Given the description of an element on the screen output the (x, y) to click on. 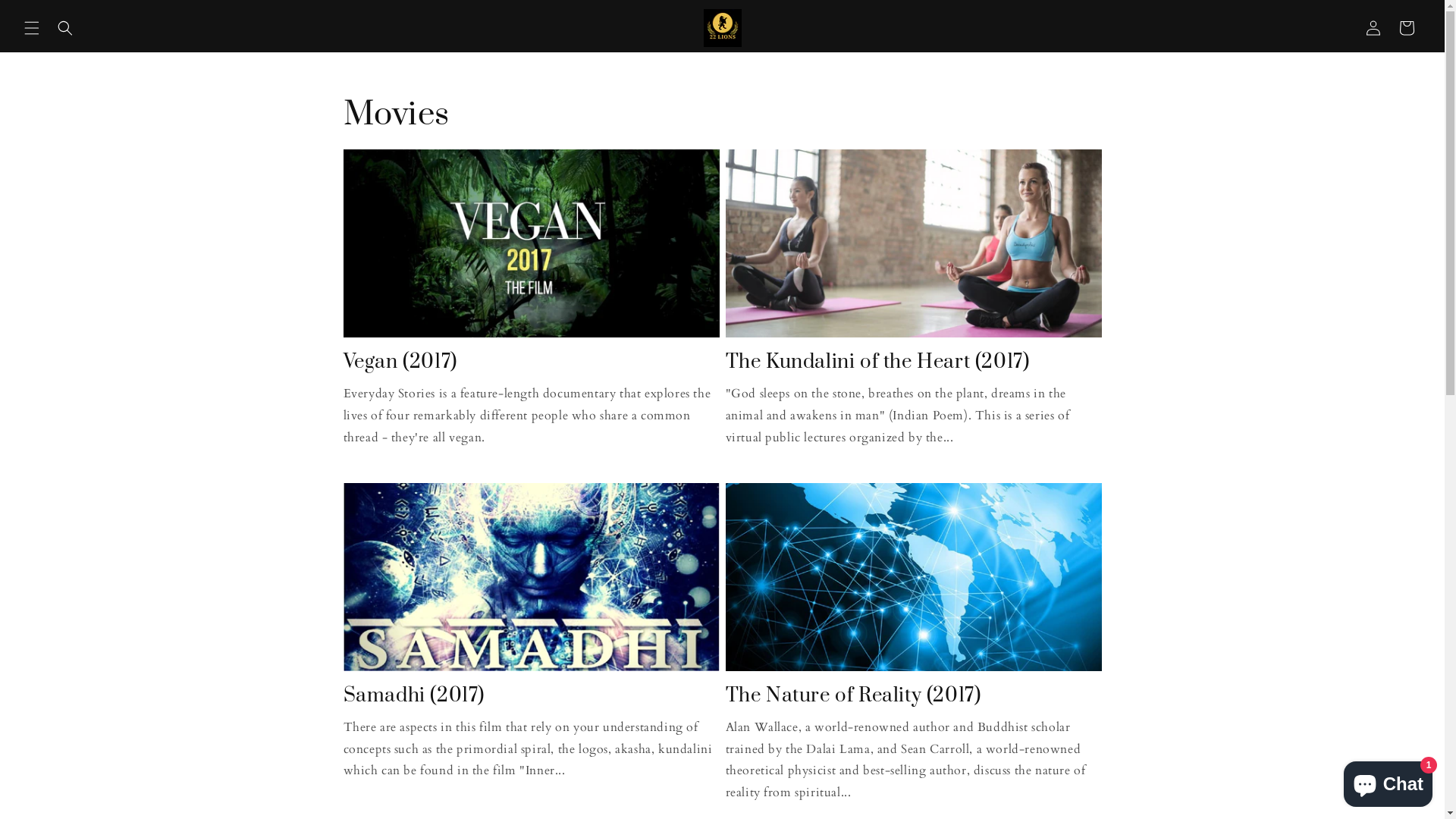
The Nature of Reality (2017) Element type: text (912, 695)
Vegan (2017) Element type: text (530, 361)
Cart Element type: text (1406, 26)
The Kundalini of the Heart (2017) Element type: text (912, 361)
Shopify online store chat Element type: hover (1388, 780)
Log in Element type: text (1373, 26)
Samadhi (2017) Element type: text (530, 695)
